Given the description of an element on the screen output the (x, y) to click on. 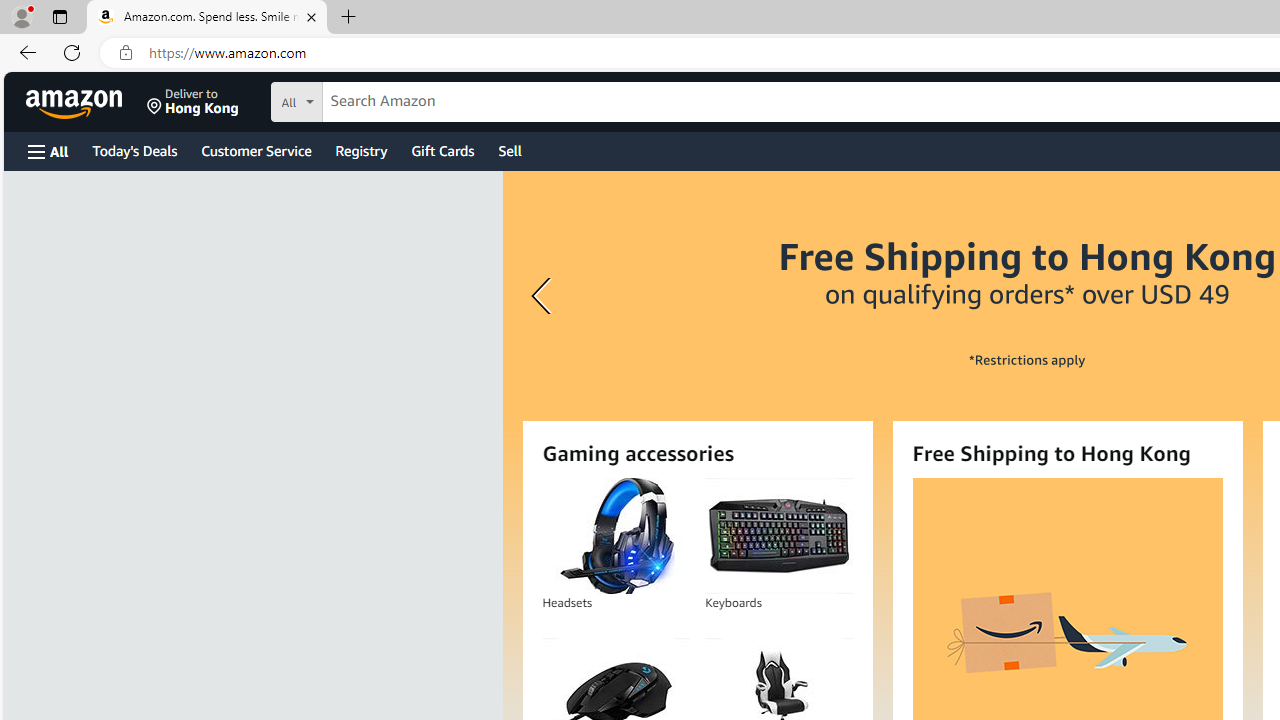
Keyboards (778, 536)
Keyboards (778, 536)
Amazon (76, 101)
Customer Service (256, 150)
Skip to main content (86, 100)
